Given the description of an element on the screen output the (x, y) to click on. 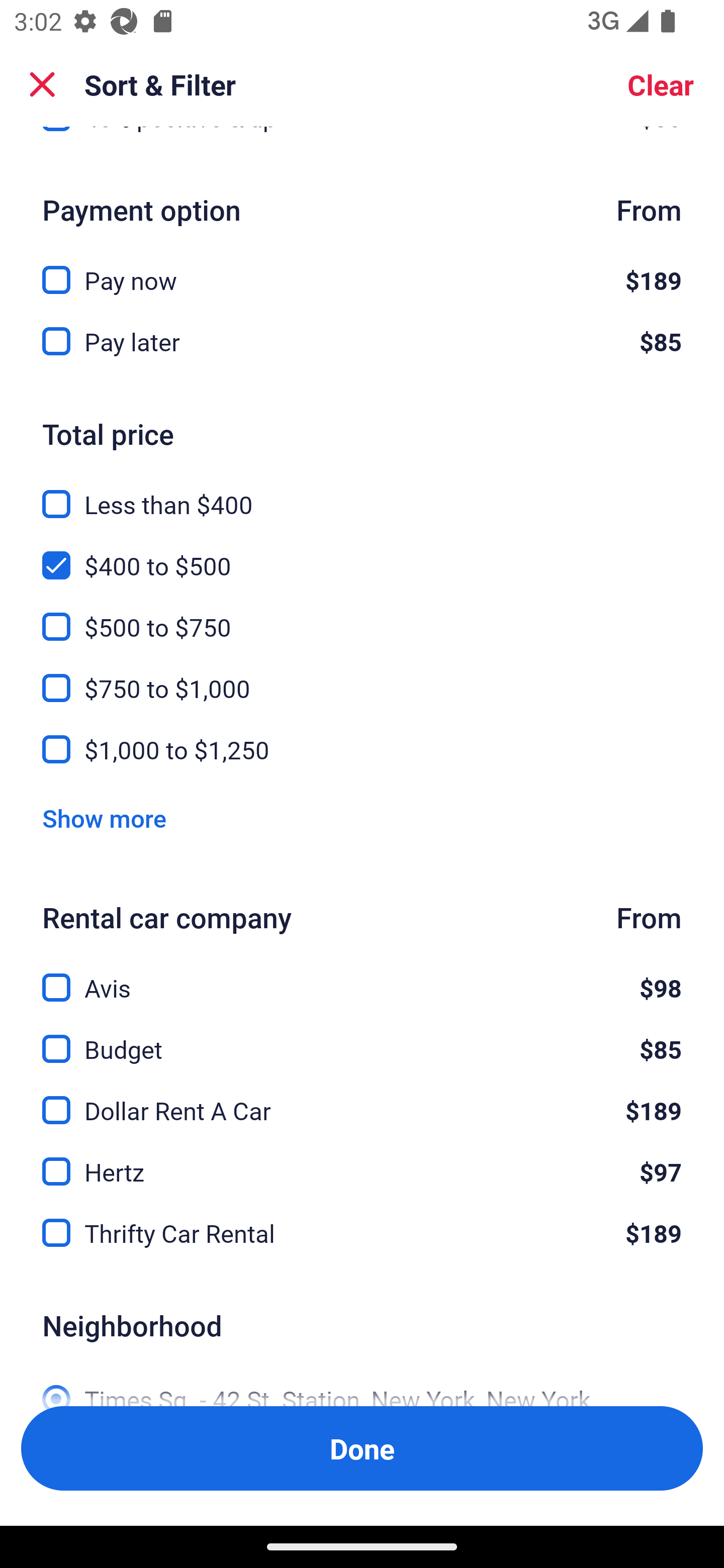
Close Sort and Filter (42, 84)
Clear (660, 84)
Pay now, $189 Pay now $189 (361, 268)
Pay later, $85 Pay later $85 (361, 341)
Less than $400, Less than $400 (361, 492)
$400 to $500, $400 to $500 (361, 553)
$500 to $750, $500 to $750 (361, 615)
$750 to $1,000, $750 to $1,000 (361, 676)
$1,000 to $1,250, $1,000 to $1,250 (361, 749)
Show more Show more Link (103, 818)
Avis, $98 Avis $98 (361, 975)
Budget, $85 Budget $85 (361, 1036)
Dollar Rent A Car, $189 Dollar Rent A Car $189 (361, 1098)
Hertz, $97 Hertz $97 (361, 1160)
Thrifty Car Rental, $189 Thrifty Car Rental $189 (361, 1232)
Apply and close Sort and Filter Done (361, 1448)
